Given the description of an element on the screen output the (x, y) to click on. 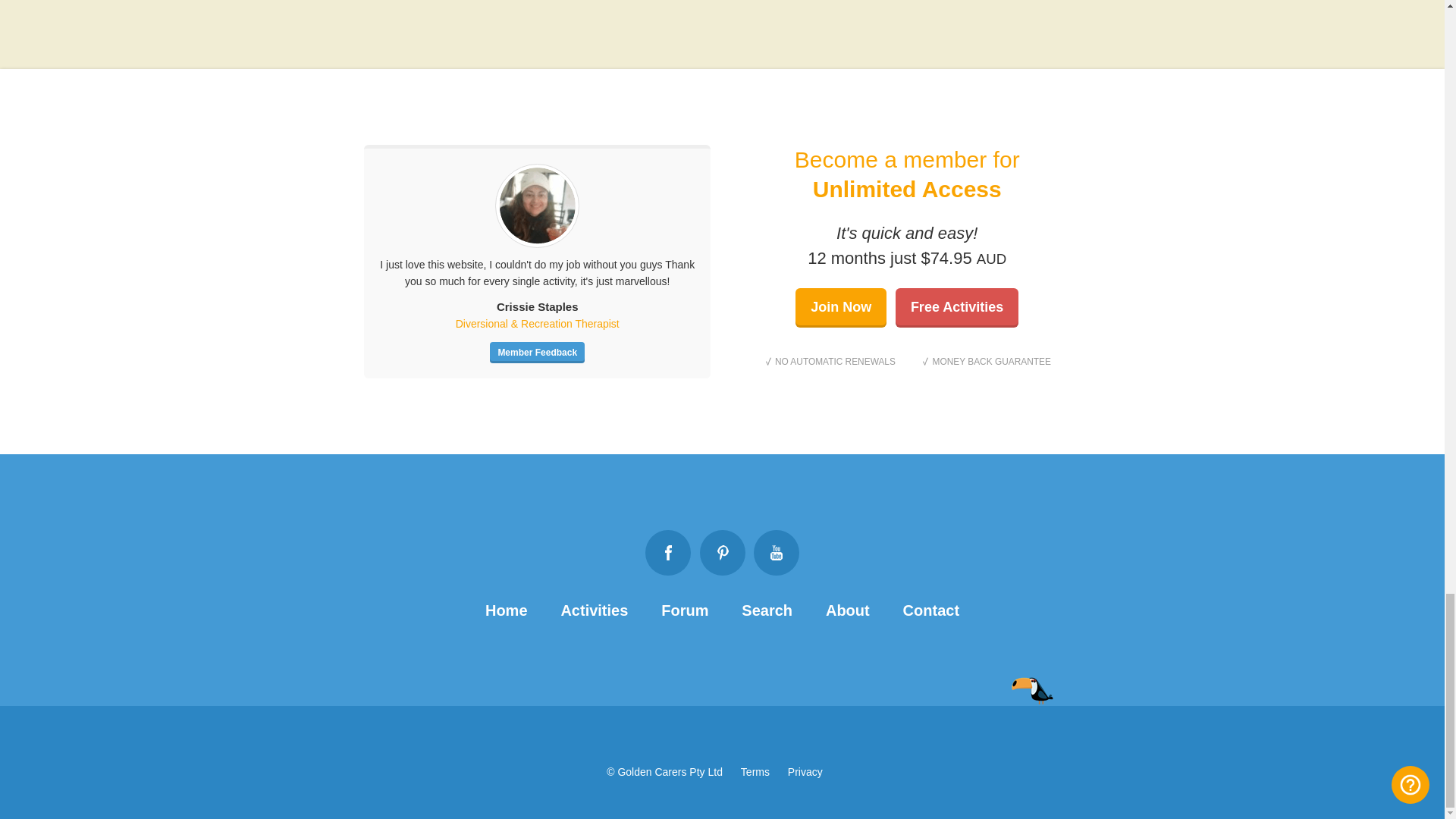
Join Now (840, 307)
Free Activities (956, 307)
Activities (593, 610)
Home (505, 610)
Member Feedback (537, 352)
